Given the description of an element on the screen output the (x, y) to click on. 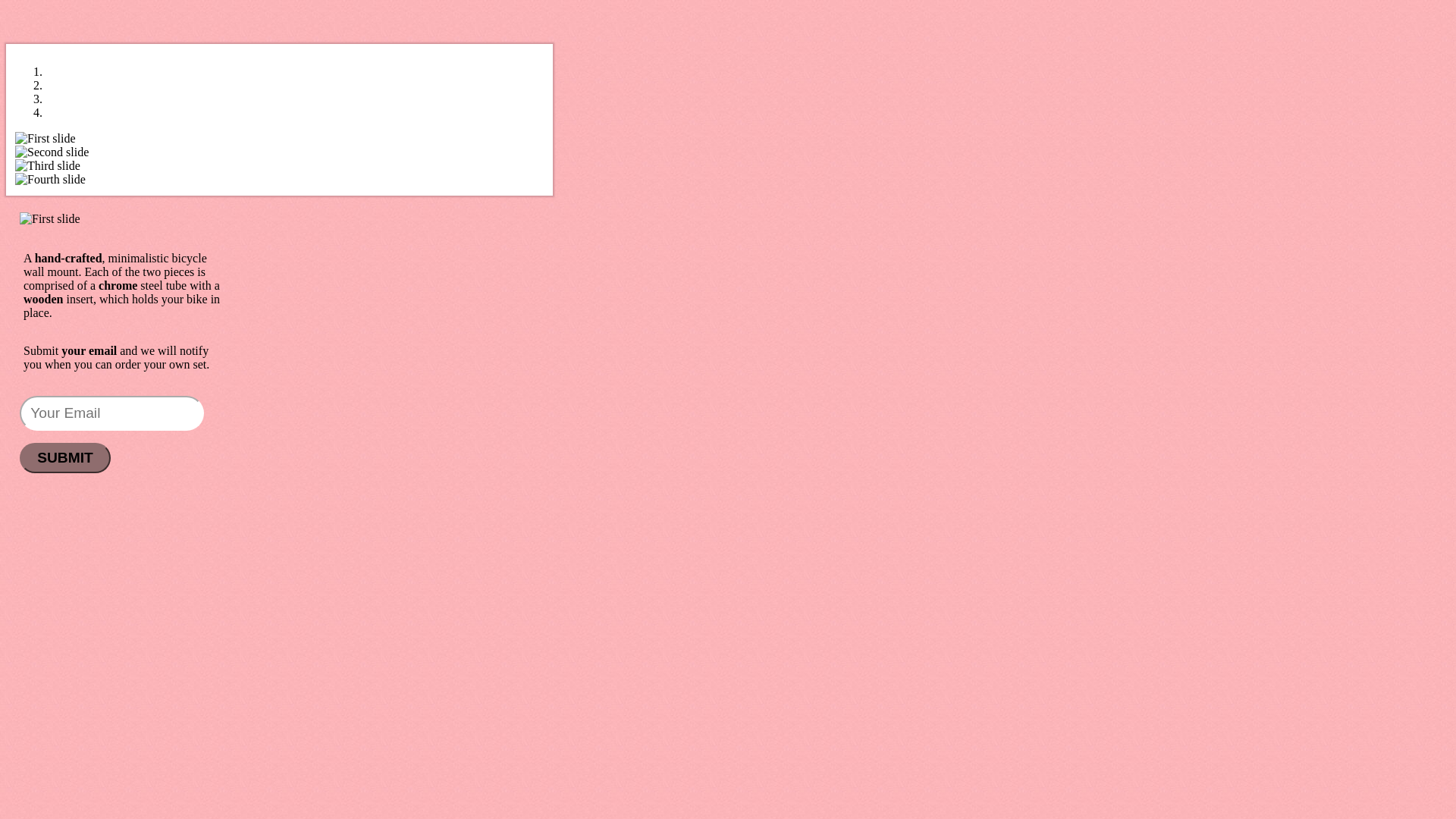
SUBMIT Element type: text (64, 457)
